Given the description of an element on the screen output the (x, y) to click on. 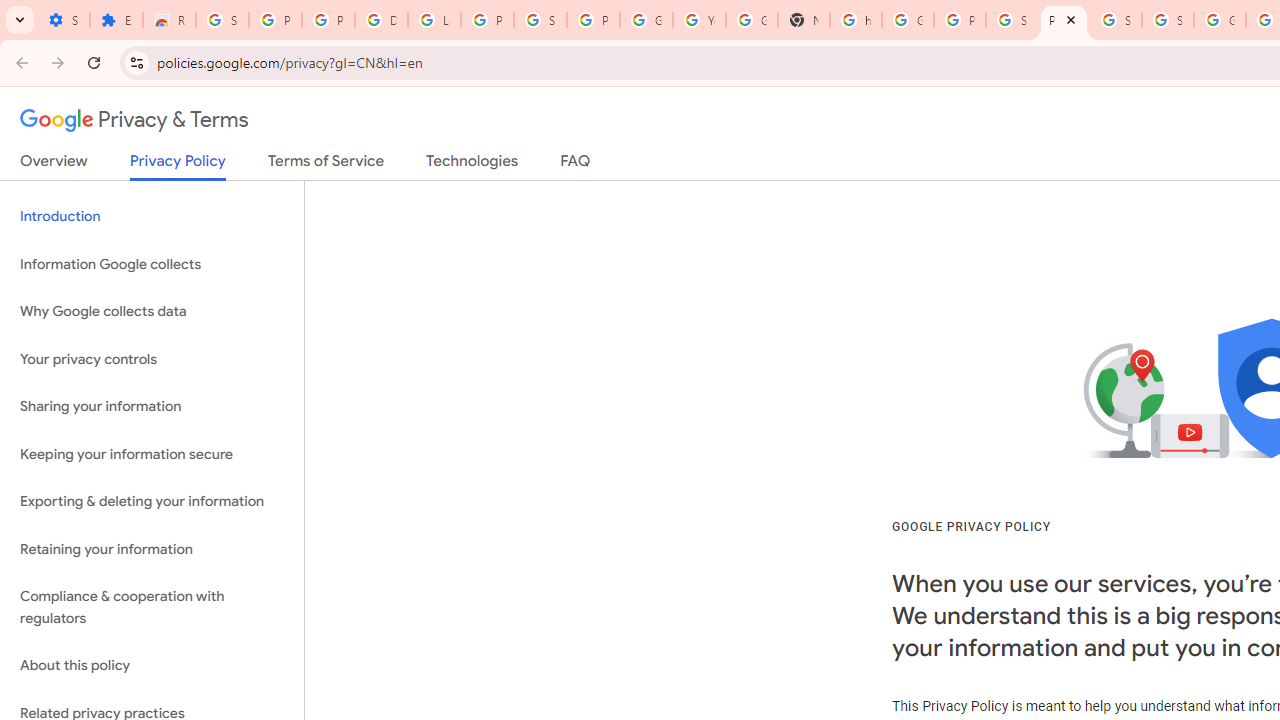
Reviews: Helix Fruit Jump Arcade Game (169, 20)
